Given the description of an element on the screen output the (x, y) to click on. 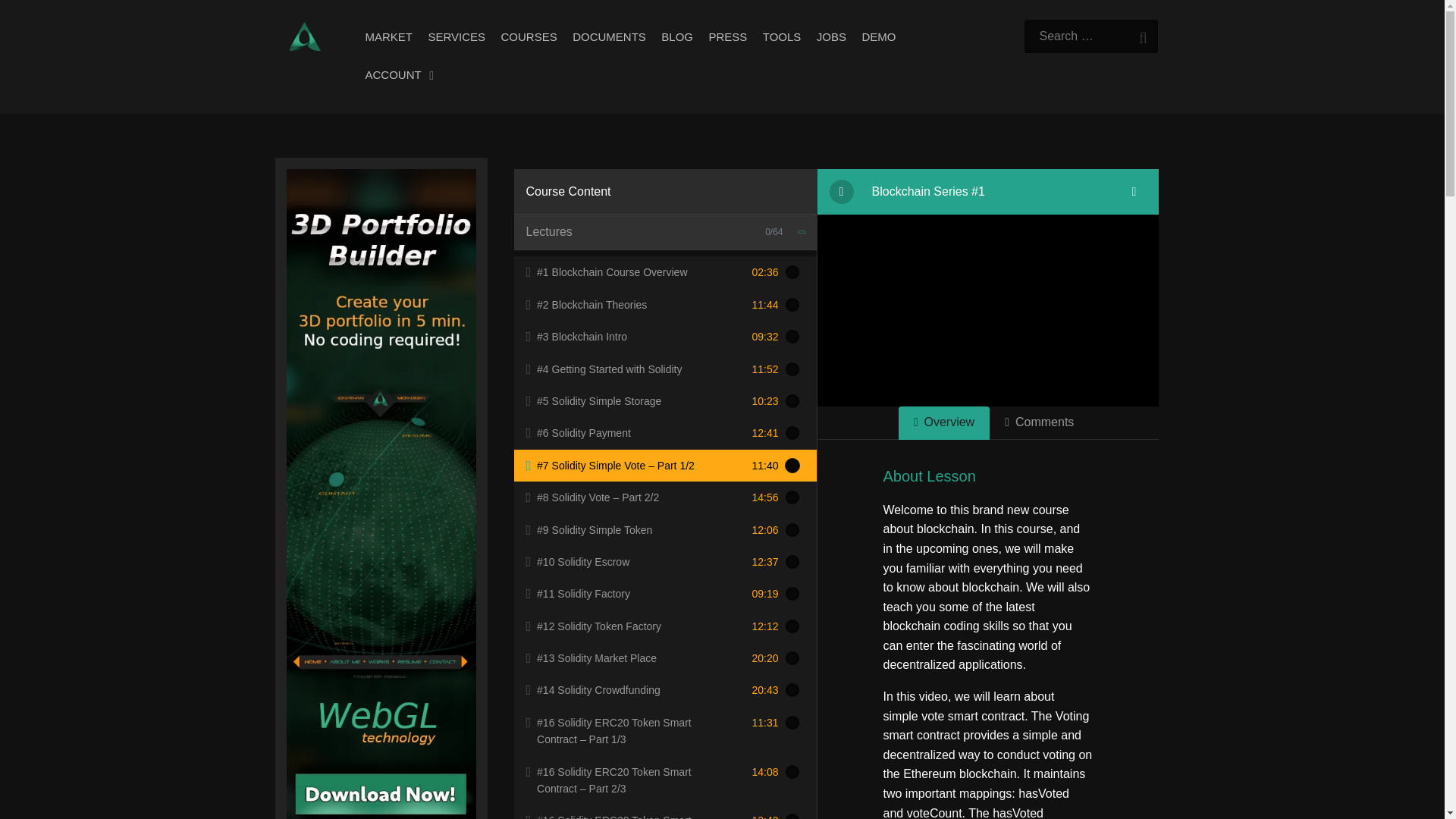
Search (1141, 34)
on (791, 771)
on (791, 465)
Arashtad Blog (303, 36)
on (791, 626)
on (791, 816)
on (791, 400)
BLOG (677, 38)
PRESS (726, 38)
on (791, 304)
on (791, 368)
Search (1141, 34)
on (791, 336)
Search (1141, 34)
TOOLS (782, 38)
